Given the description of an element on the screen output the (x, y) to click on. 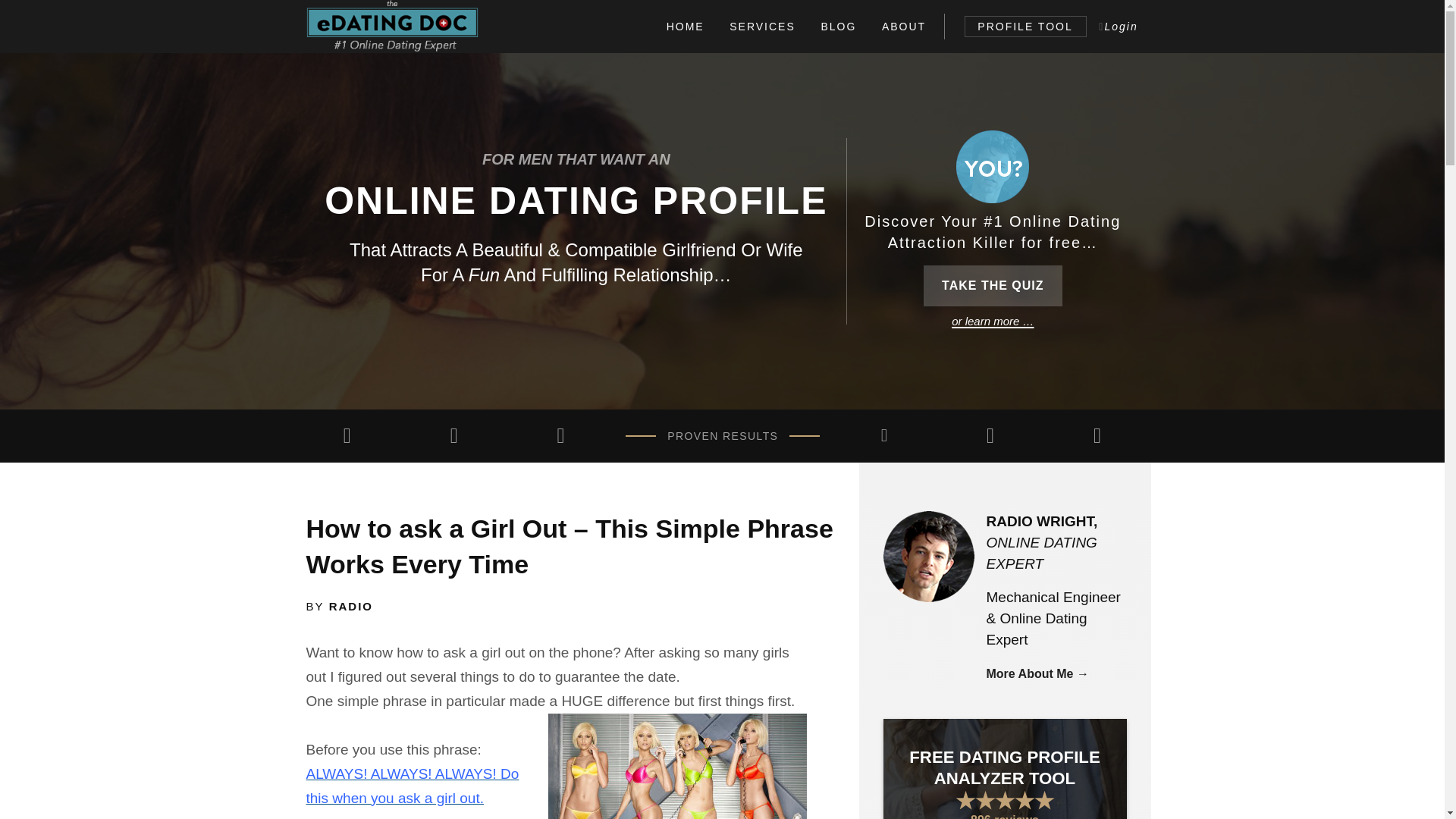
click to go home (392, 26)
How to ask a girl out (676, 766)
ABOUT (904, 26)
TAKE THE QUIZ (992, 285)
SERVICES (762, 26)
ALWAYS! ALWAYS! ALWAYS! Do this when you ask a girl out. (412, 785)
Login (1118, 26)
PROFILE TOOL (1025, 26)
HOME (685, 26)
BLOG (838, 26)
